Given the description of an element on the screen output the (x, y) to click on. 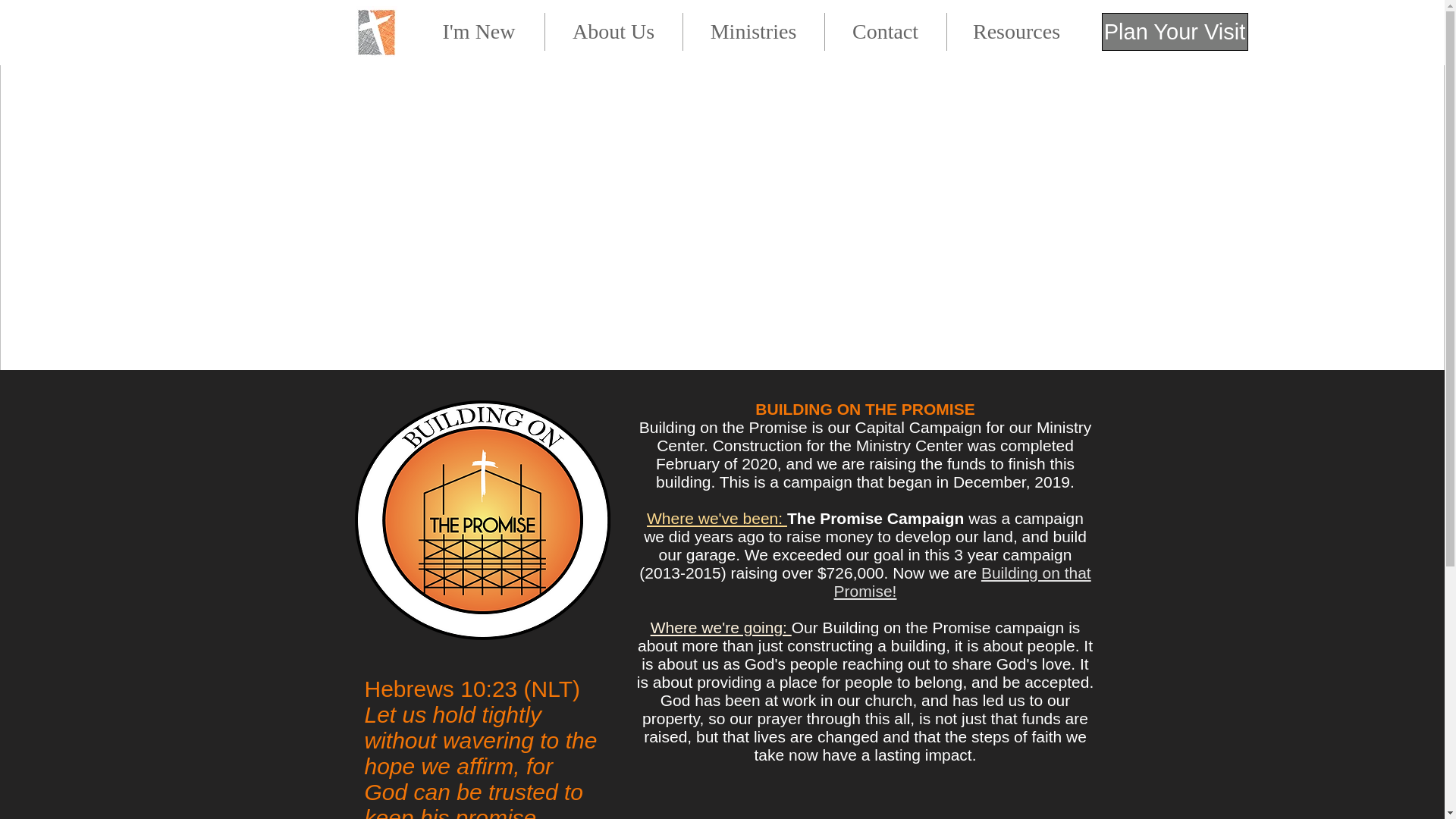
I'm New (478, 31)
Plan Your Visit (1173, 31)
About Us (612, 31)
Contact (885, 31)
Resources (1016, 31)
Ministries (753, 31)
